Given the description of an element on the screen output the (x, y) to click on. 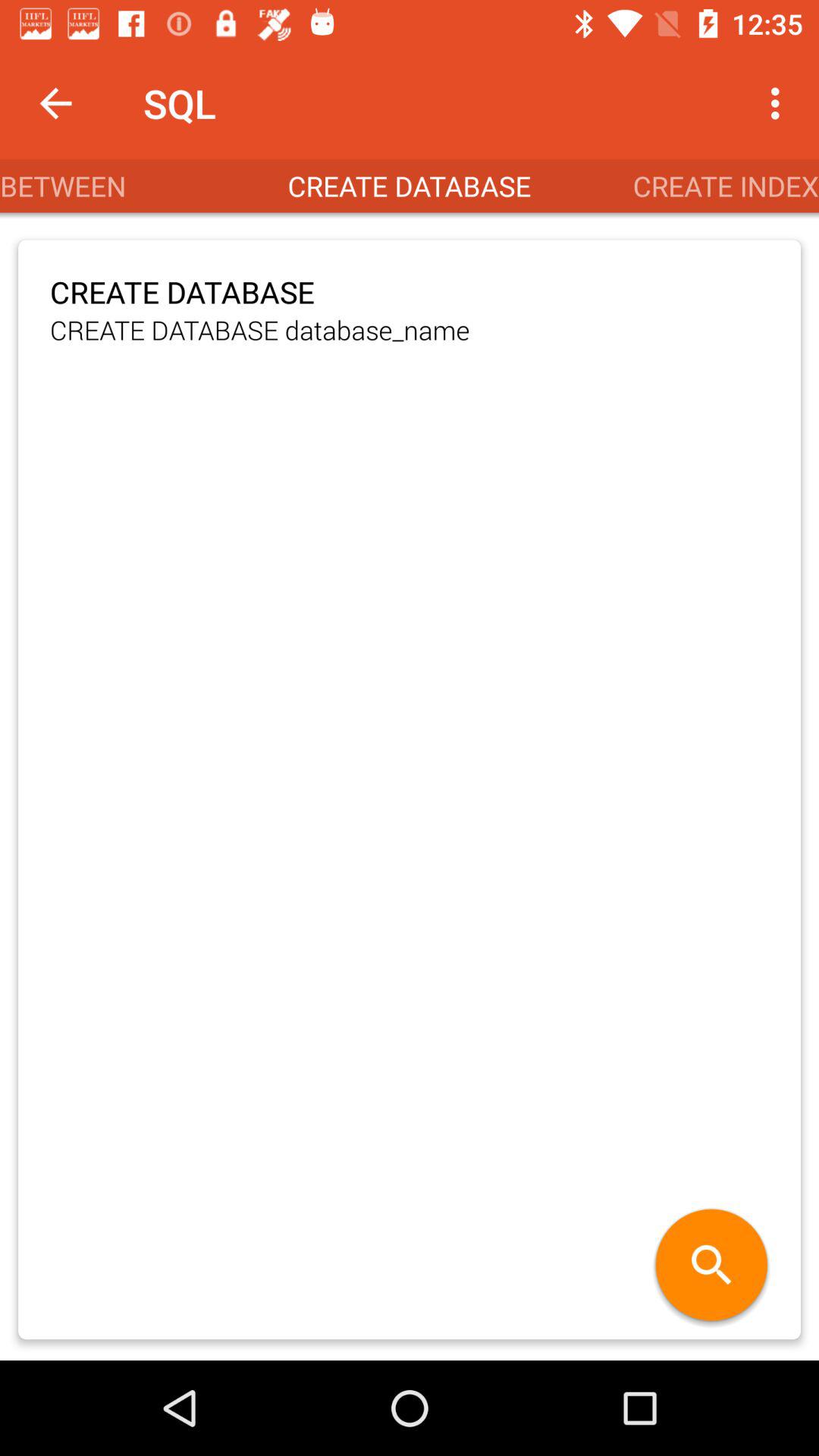
choose the item to the left of the sql item (55, 103)
